Given the description of an element on the screen output the (x, y) to click on. 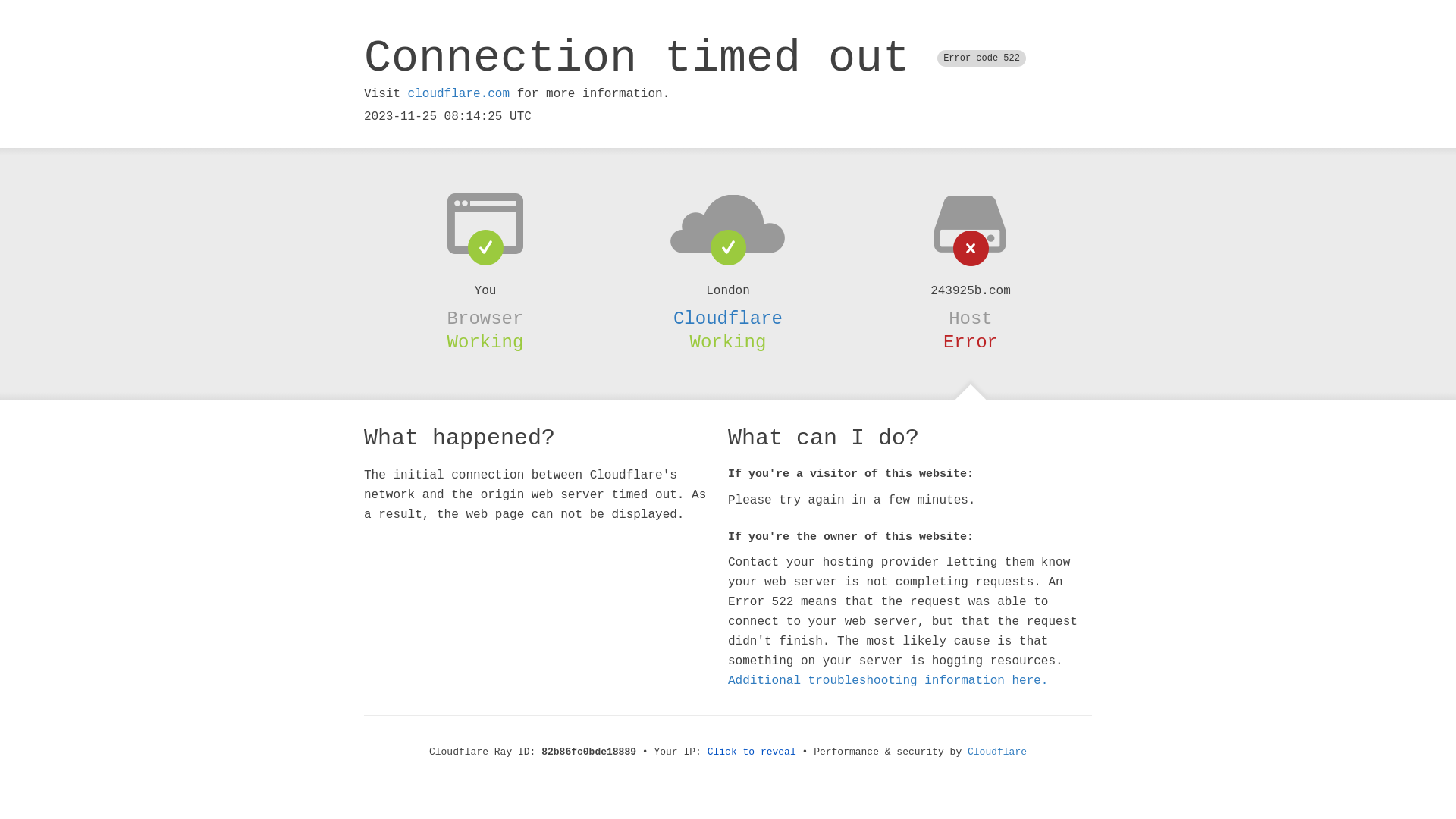
Additional troubleshooting information here. Element type: text (888, 680)
cloudflare.com Element type: text (458, 93)
Cloudflare Element type: text (727, 318)
Cloudflare Element type: text (996, 751)
Click to reveal Element type: text (751, 751)
